Given the description of an element on the screen output the (x, y) to click on. 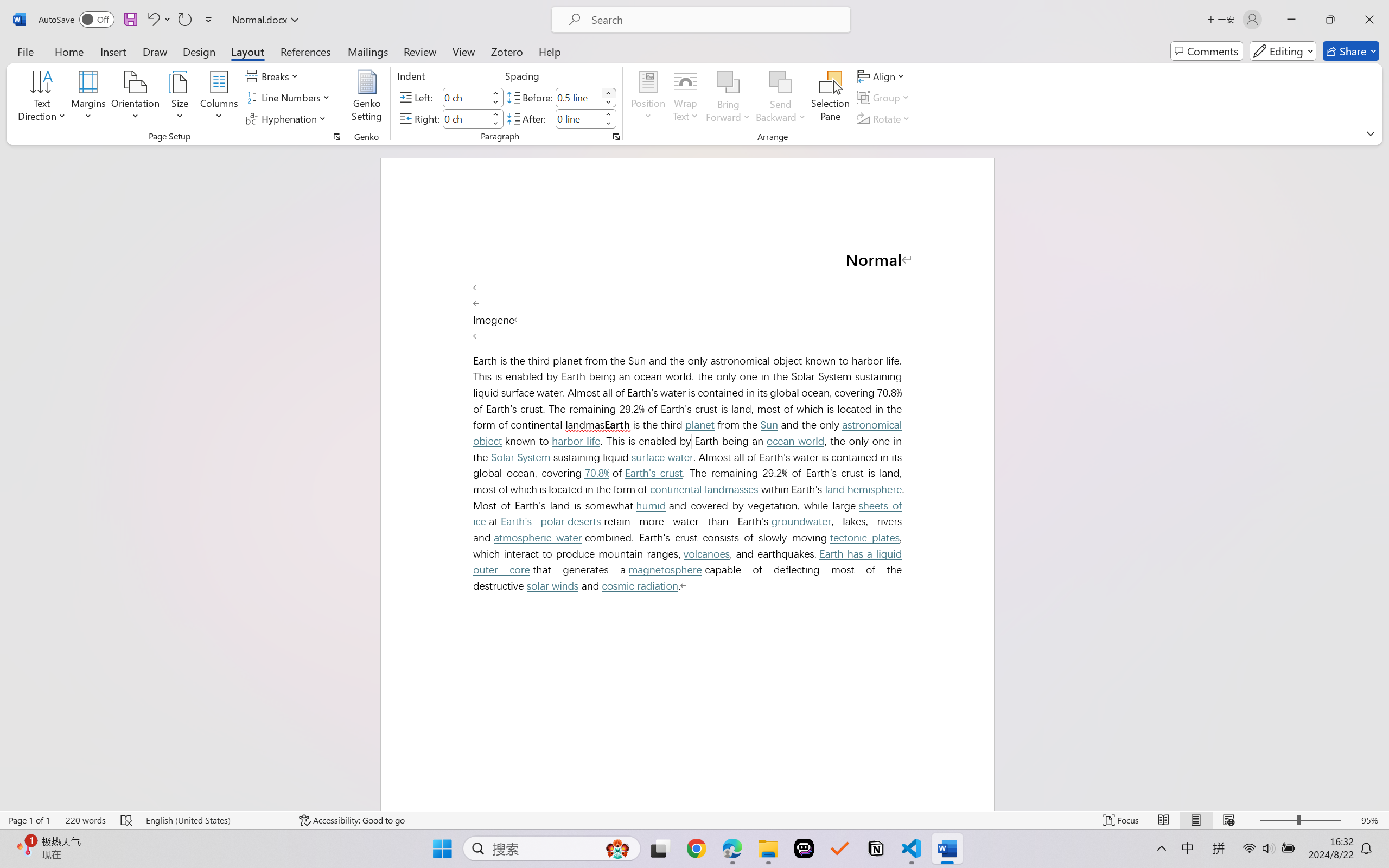
Header -Section 1- (687, 194)
cosmic radiation (639, 585)
Align (881, 75)
sheets of ice (690, 513)
landmasses (731, 489)
Size (180, 97)
magnetosphere (665, 569)
Page Setup... (336, 136)
land hemisphere (863, 489)
70.8% (596, 473)
Earth has a liquid outer core (690, 561)
